Given the description of an element on the screen output the (x, y) to click on. 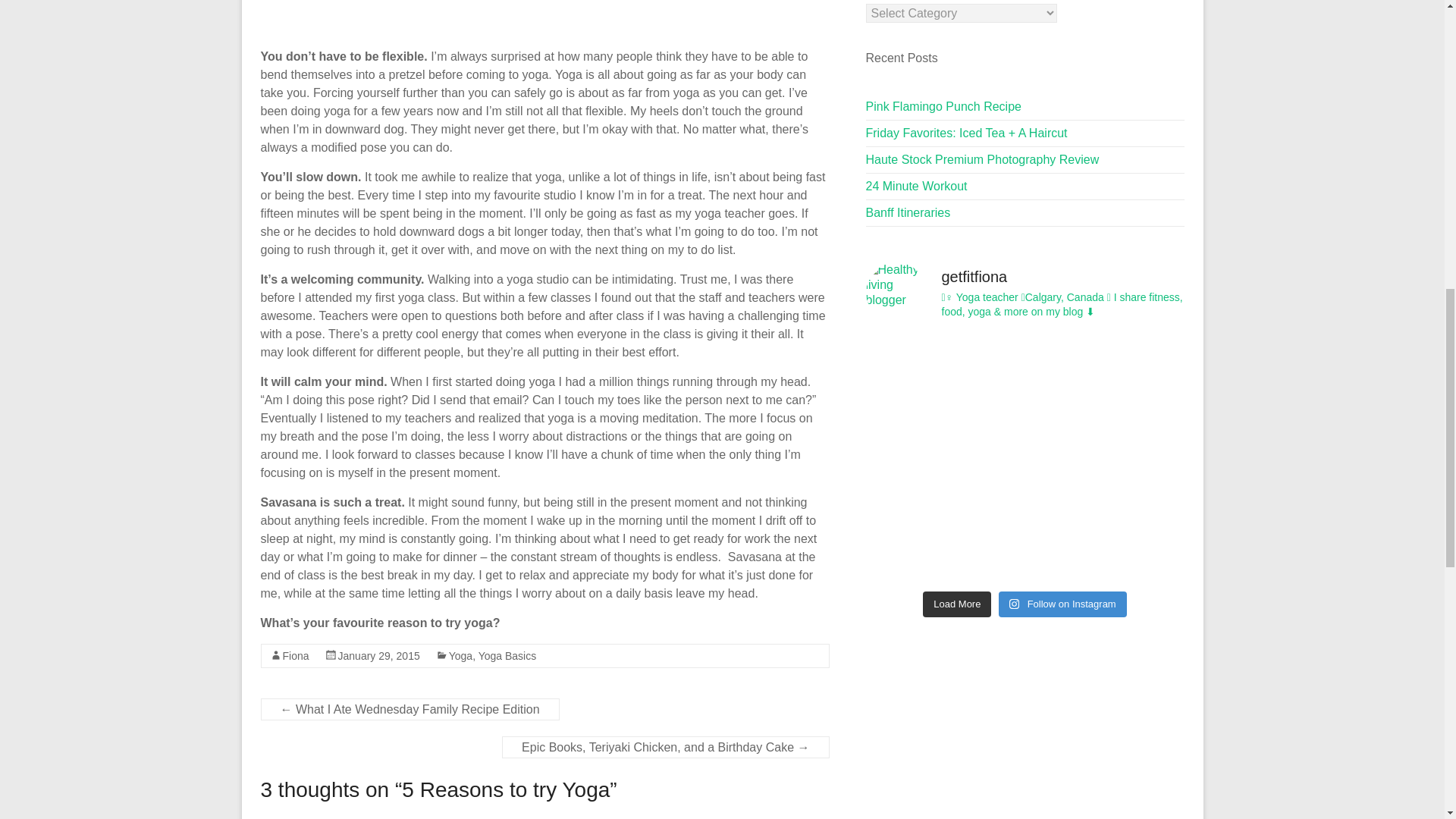
Pink Flamingo Punch Recipe (944, 106)
5:00 am (378, 655)
Yoga (459, 655)
January 29, 2015 (378, 655)
Yoga Basics (508, 655)
Fiona (295, 655)
